Given the description of an element on the screen output the (x, y) to click on. 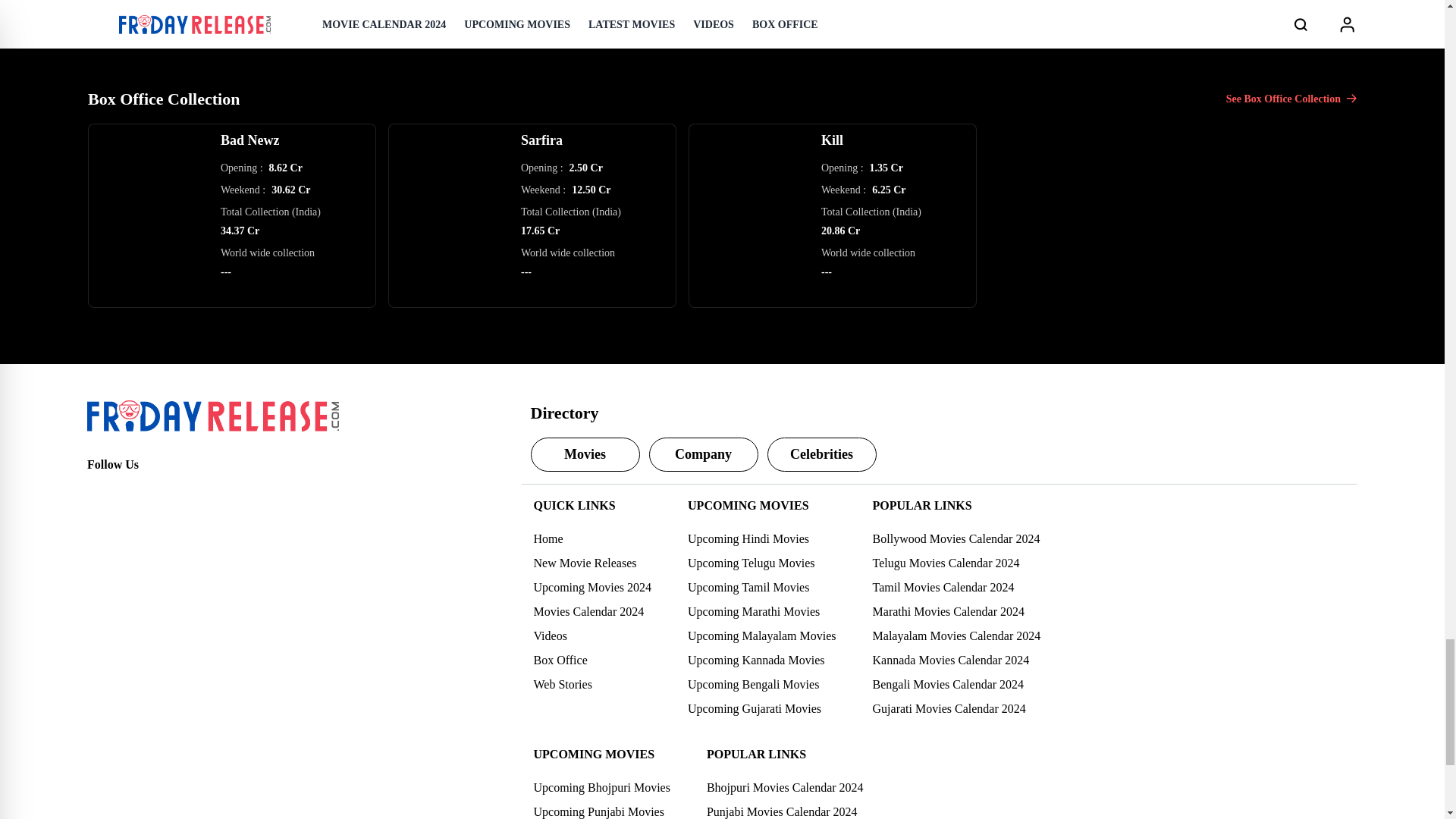
Youtube Page (199, 491)
Instagram Page (165, 491)
Twitter Page (132, 491)
Facebook Page (99, 491)
